Given the description of an element on the screen output the (x, y) to click on. 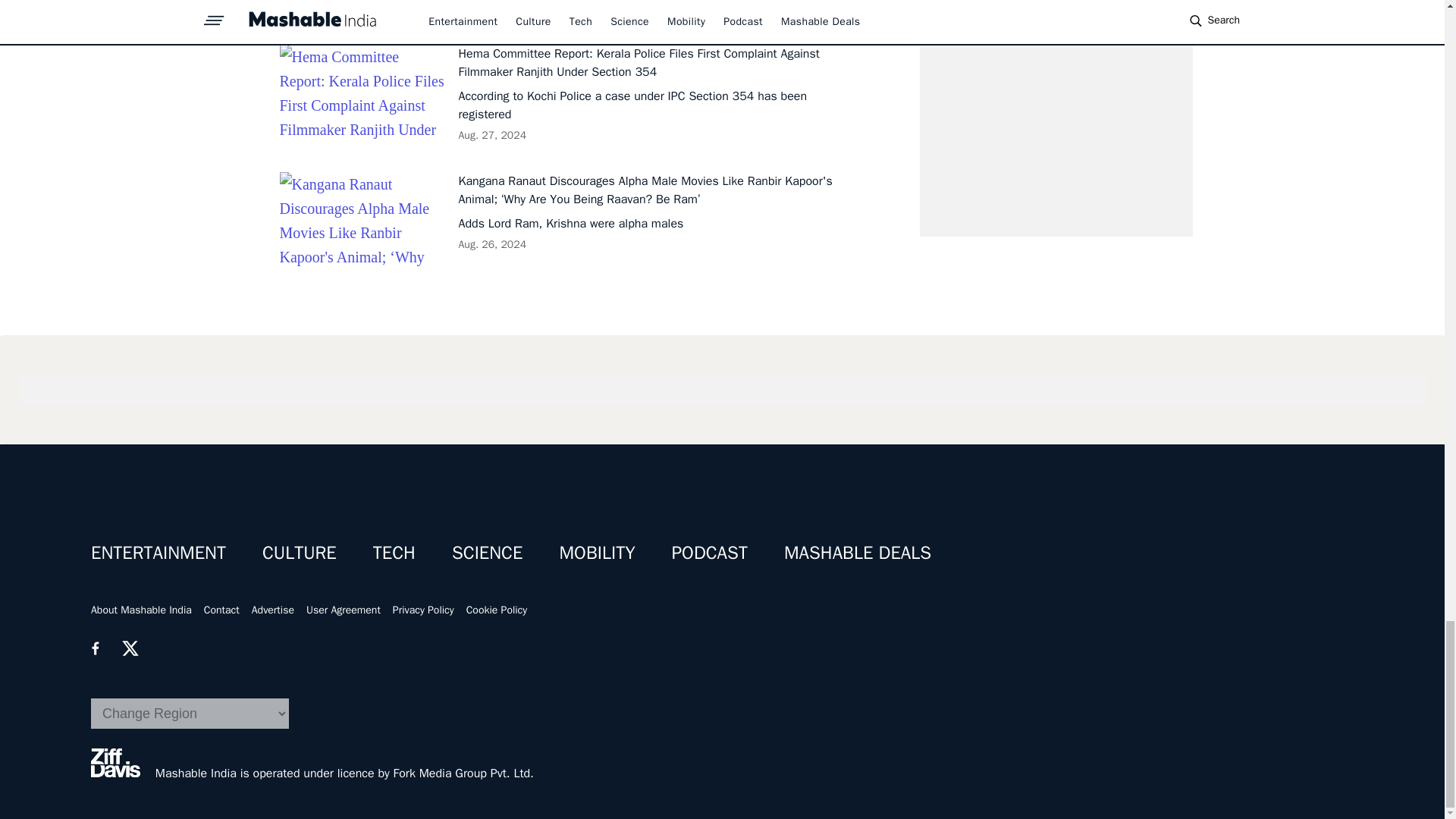
SCIENCE (486, 552)
MOBILITY (596, 552)
TECH (393, 552)
ENTERTAINMENT (157, 552)
CULTURE (299, 552)
